Given the description of an element on the screen output the (x, y) to click on. 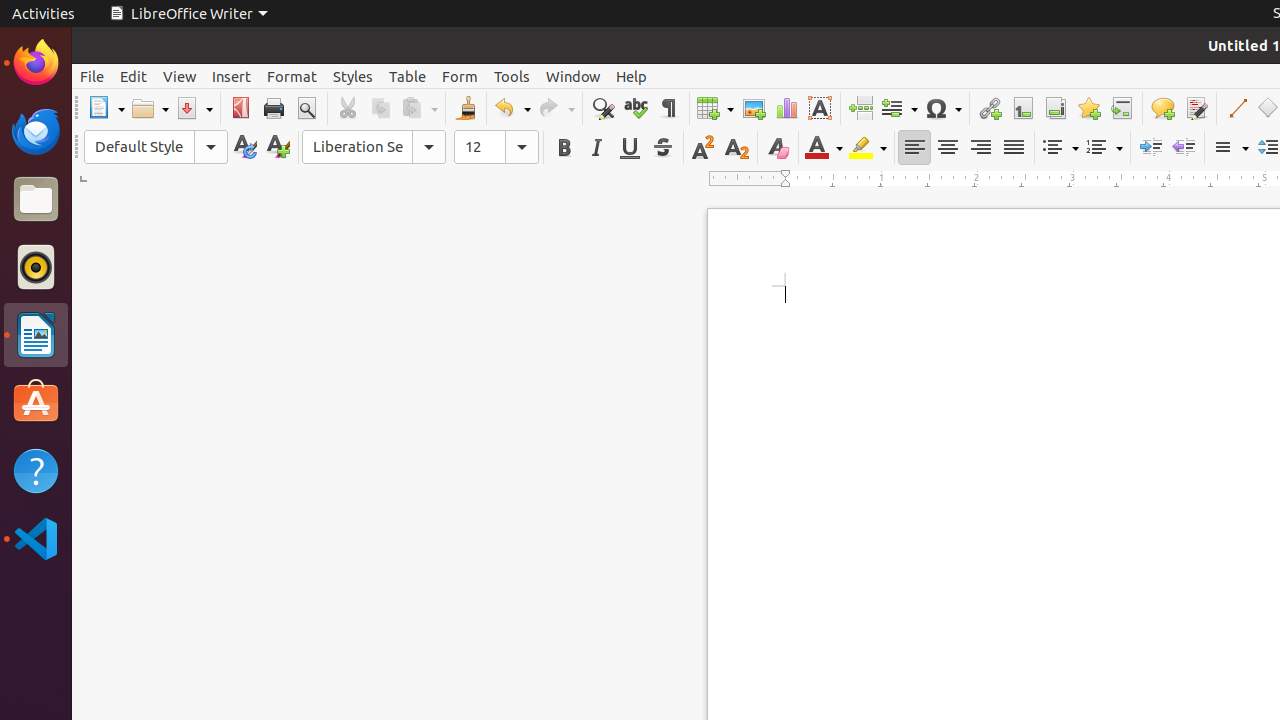
Endnote Element type: push-button (1055, 108)
Line Element type: toggle-button (1236, 108)
Chart Element type: push-button (786, 108)
Insert Element type: menu (231, 76)
Font Size Element type: combo-box (496, 147)
